Given the description of an element on the screen output the (x, y) to click on. 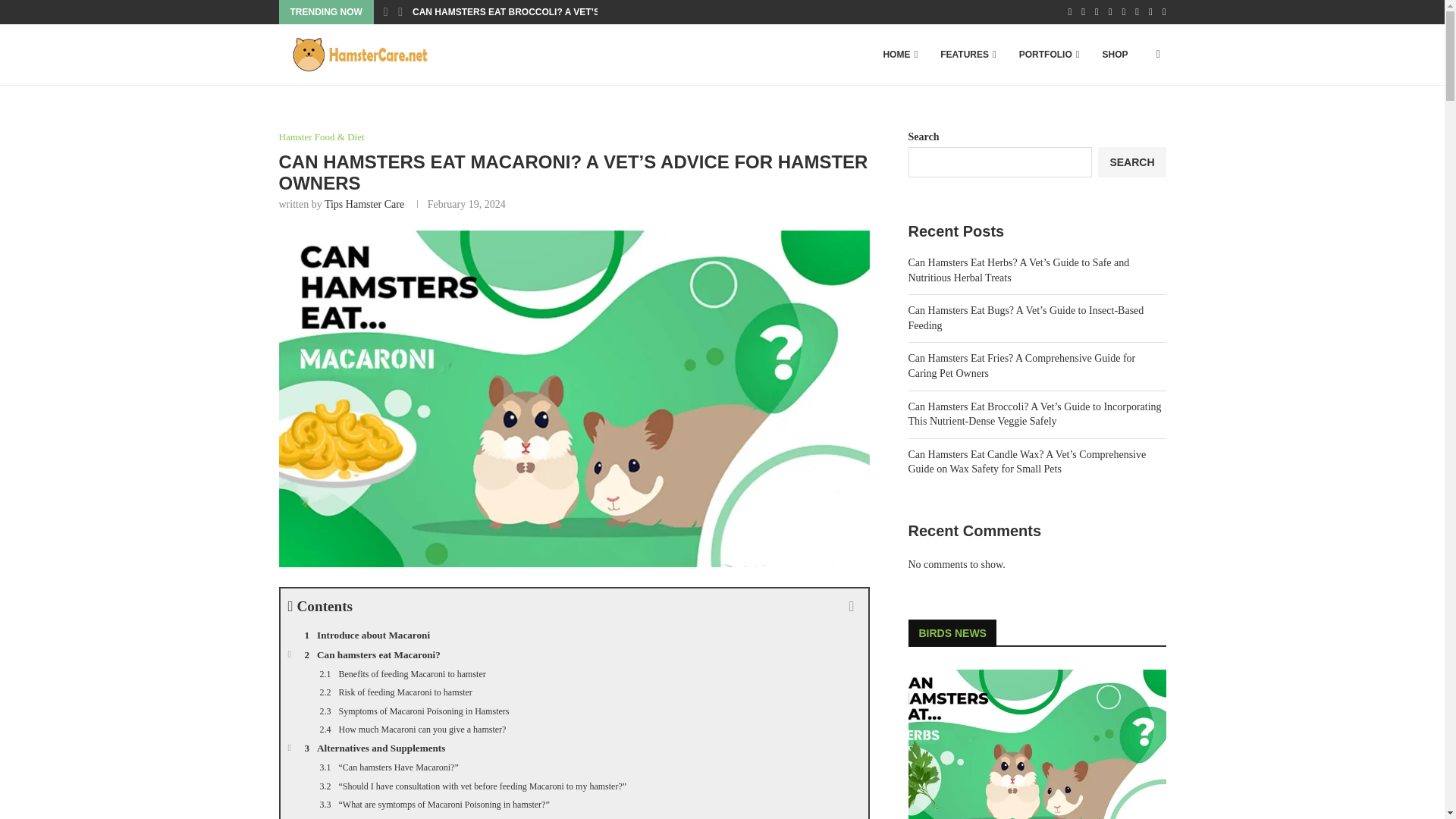
HOME (899, 54)
